Given the description of an element on the screen output the (x, y) to click on. 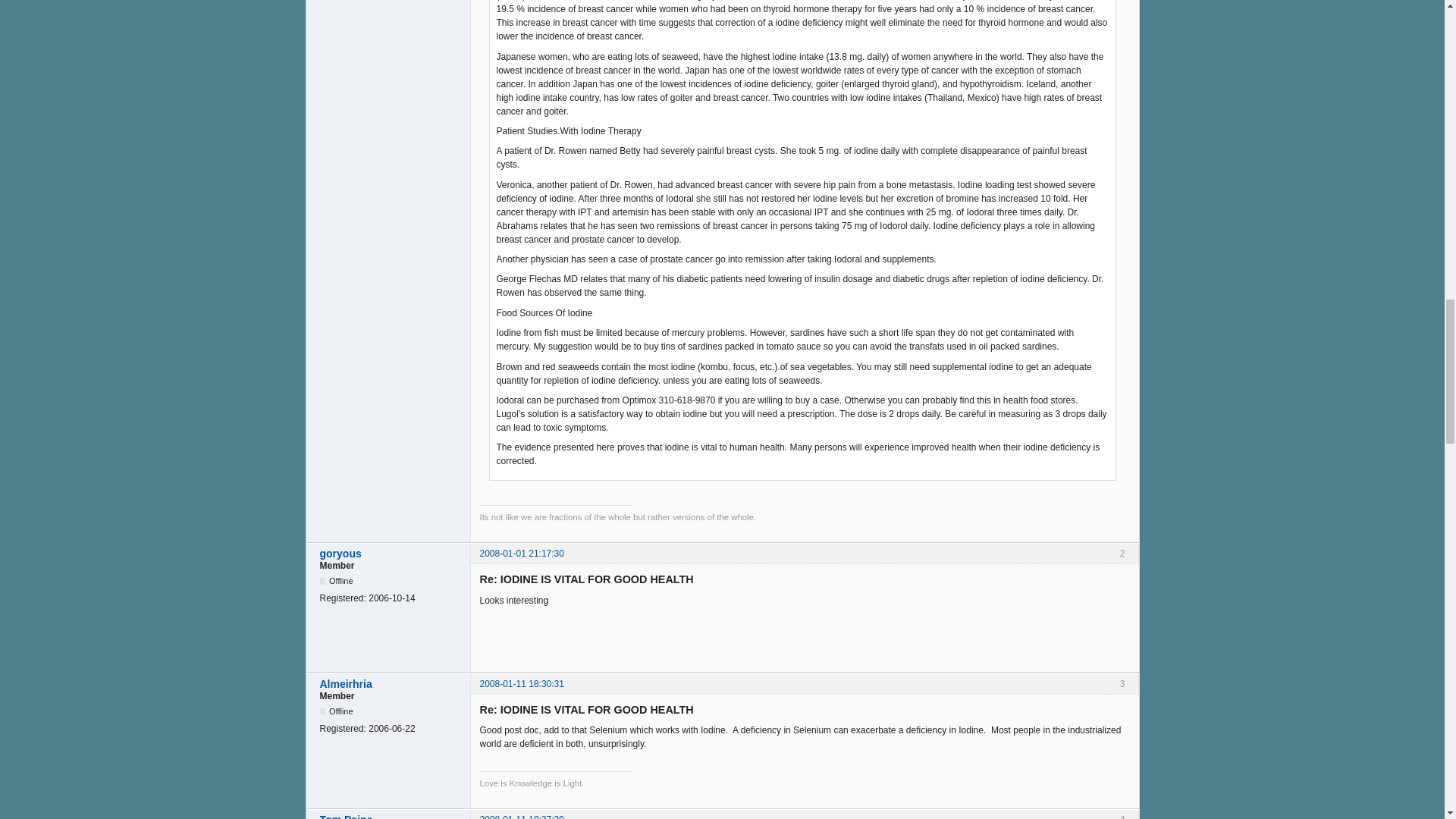
goryous (390, 553)
Go to Tom Paine's profile (390, 816)
Go to goryous's profile (390, 553)
Almeirhria (390, 684)
Tom Paine (390, 816)
Permanent link to this post (521, 683)
2008-01-01 21:17:30 (521, 552)
2008-01-11 18:30:31 (521, 683)
Go to Almeirhria's profile (390, 684)
Permanent link to this post (521, 552)
2008-01-11 19:37:29 (521, 816)
